Given the description of an element on the screen output the (x, y) to click on. 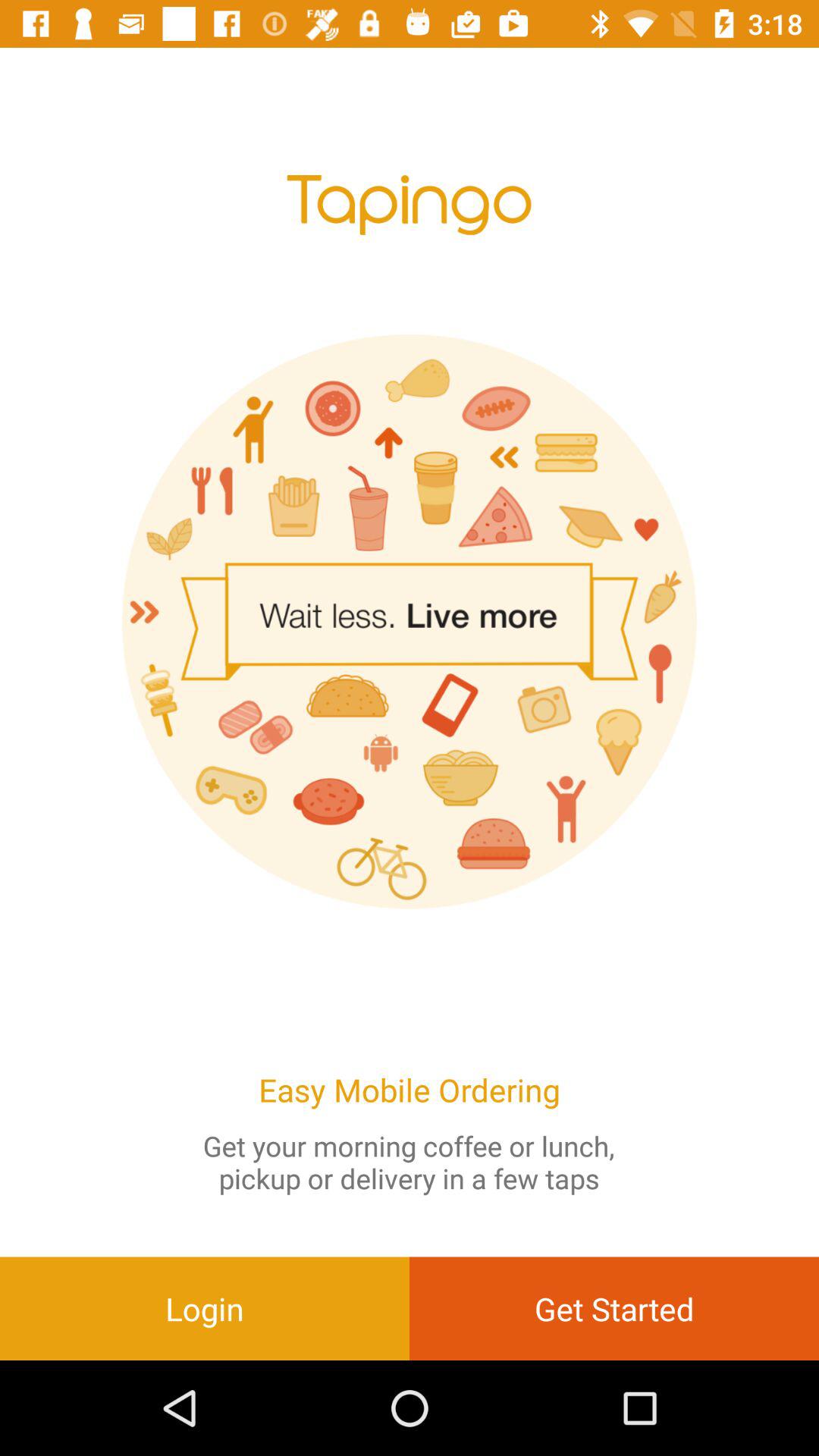
choose icon next to login icon (614, 1308)
